Given the description of an element on the screen output the (x, y) to click on. 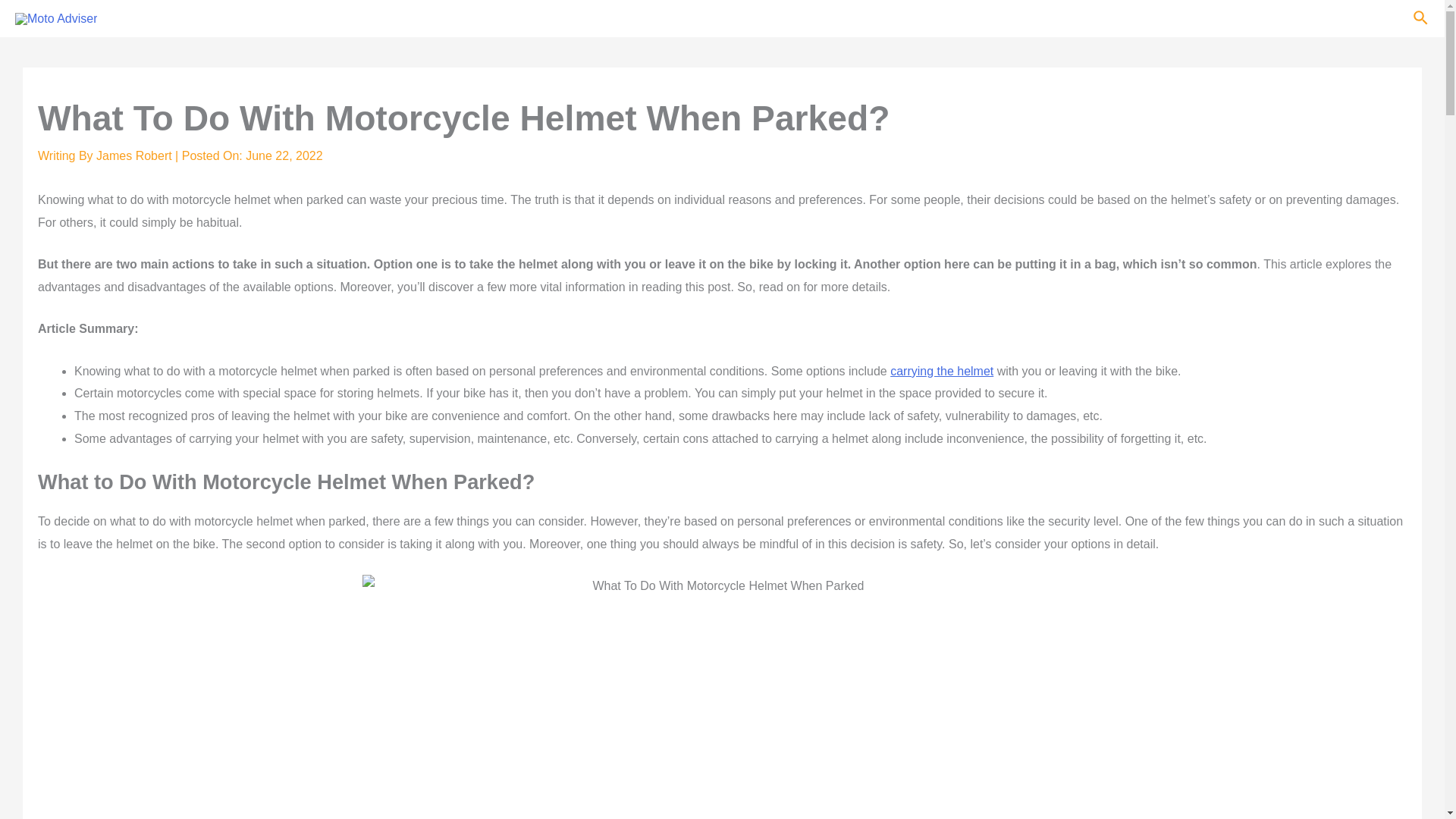
About Us (1360, 18)
Helmet Guides (1272, 18)
Home (1083, 18)
Helmet Reviews (1166, 18)
View all posts by James Robert (135, 155)
carrying the helmet (940, 370)
James Robert (135, 155)
